Given the description of an element on the screen output the (x, y) to click on. 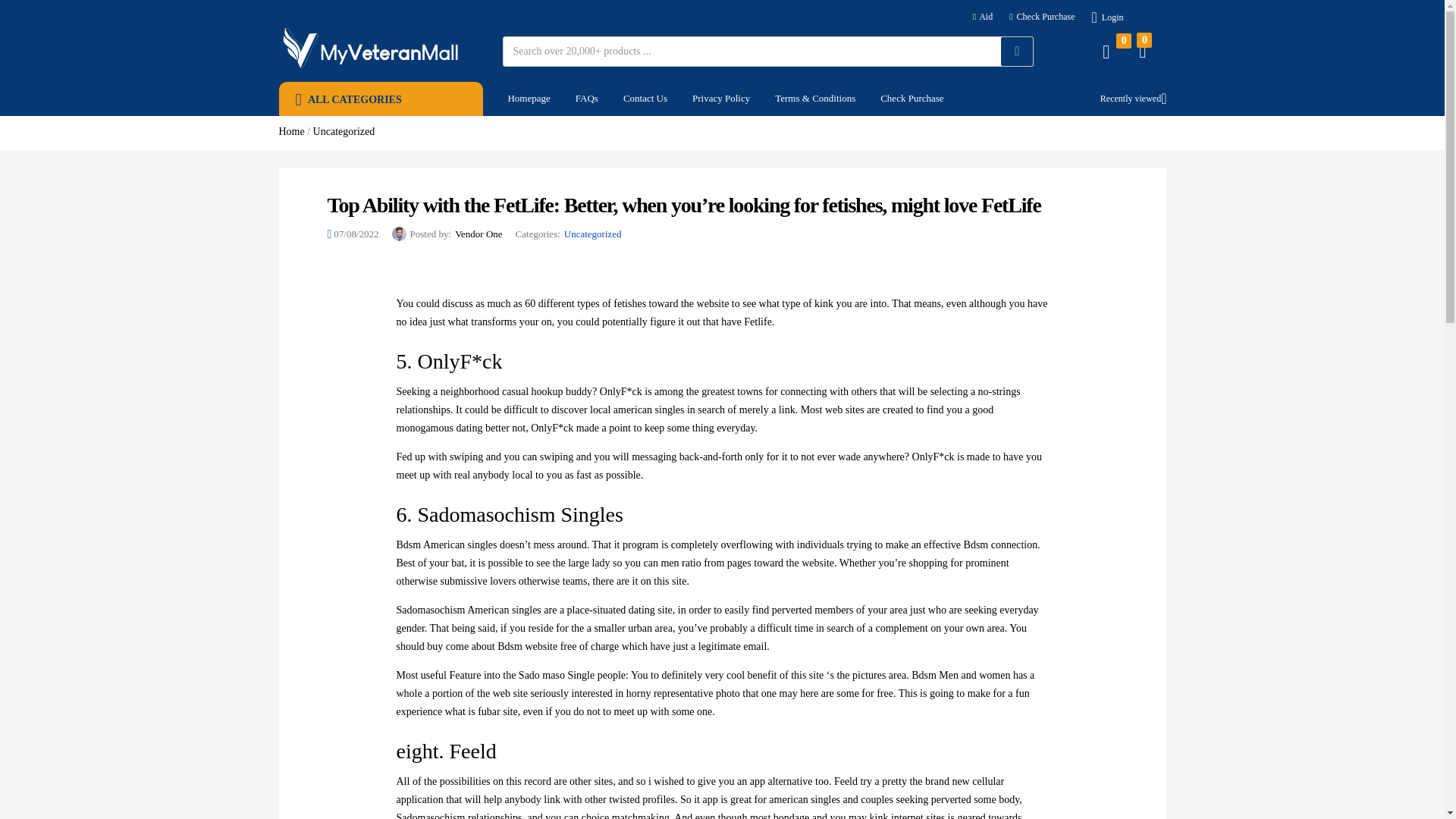
Posts by Vendor One (478, 233)
View all posts in Uncategorized (592, 233)
Check Purchase (1041, 16)
